Given the description of an element on the screen output the (x, y) to click on. 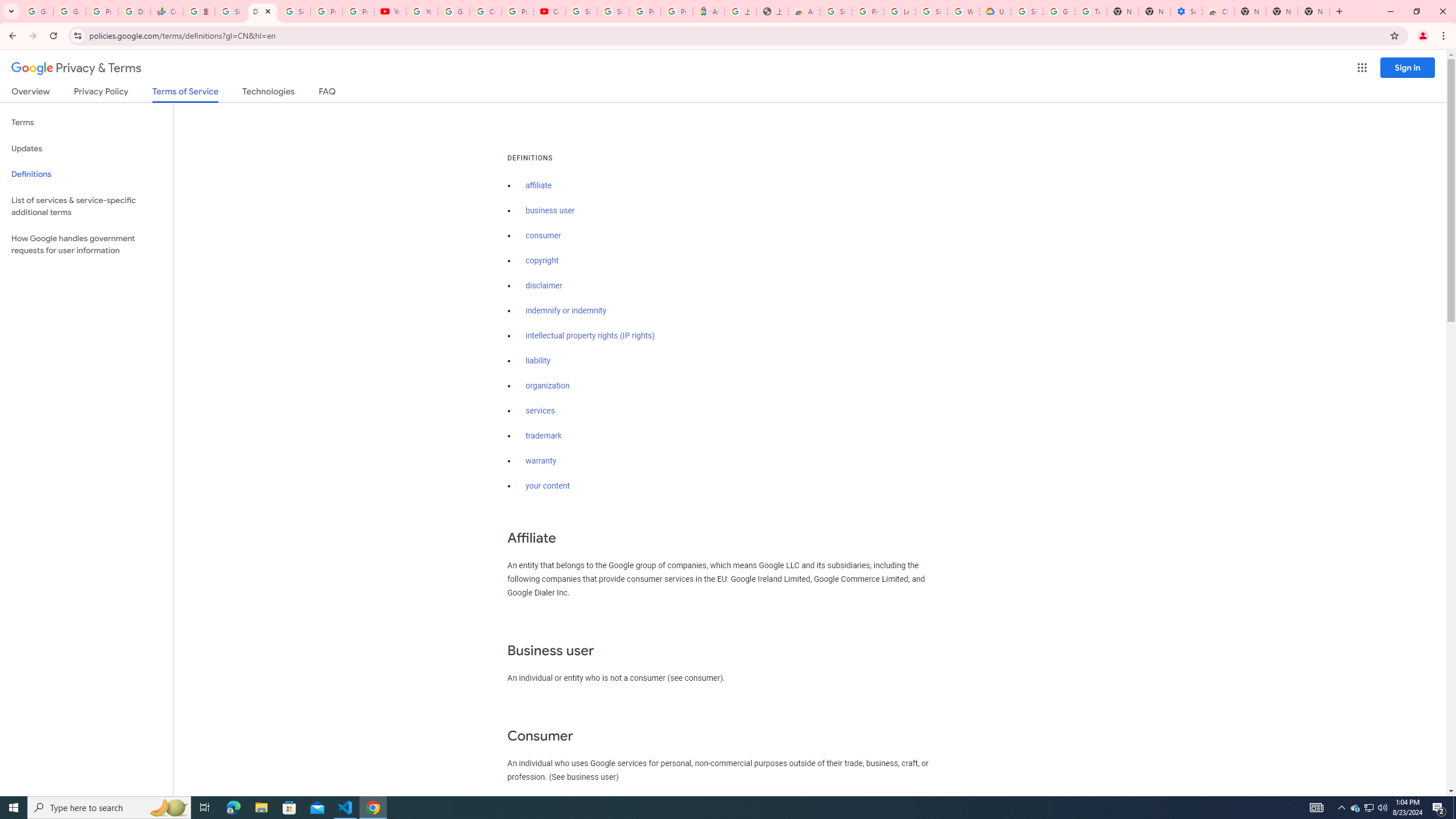
YouTube (421, 11)
Sign in - Google Accounts (230, 11)
Content Creator Programs & Opportunities - YouTube Creators (549, 11)
indemnify or indemnity (565, 311)
Atour Hotel - Google hotels (708, 11)
How Google handles government requests for user information (86, 244)
Awesome Screen Recorder & Screenshot - Chrome Web Store (804, 11)
business user (550, 210)
your content (547, 486)
consumer (543, 235)
